Given the description of an element on the screen output the (x, y) to click on. 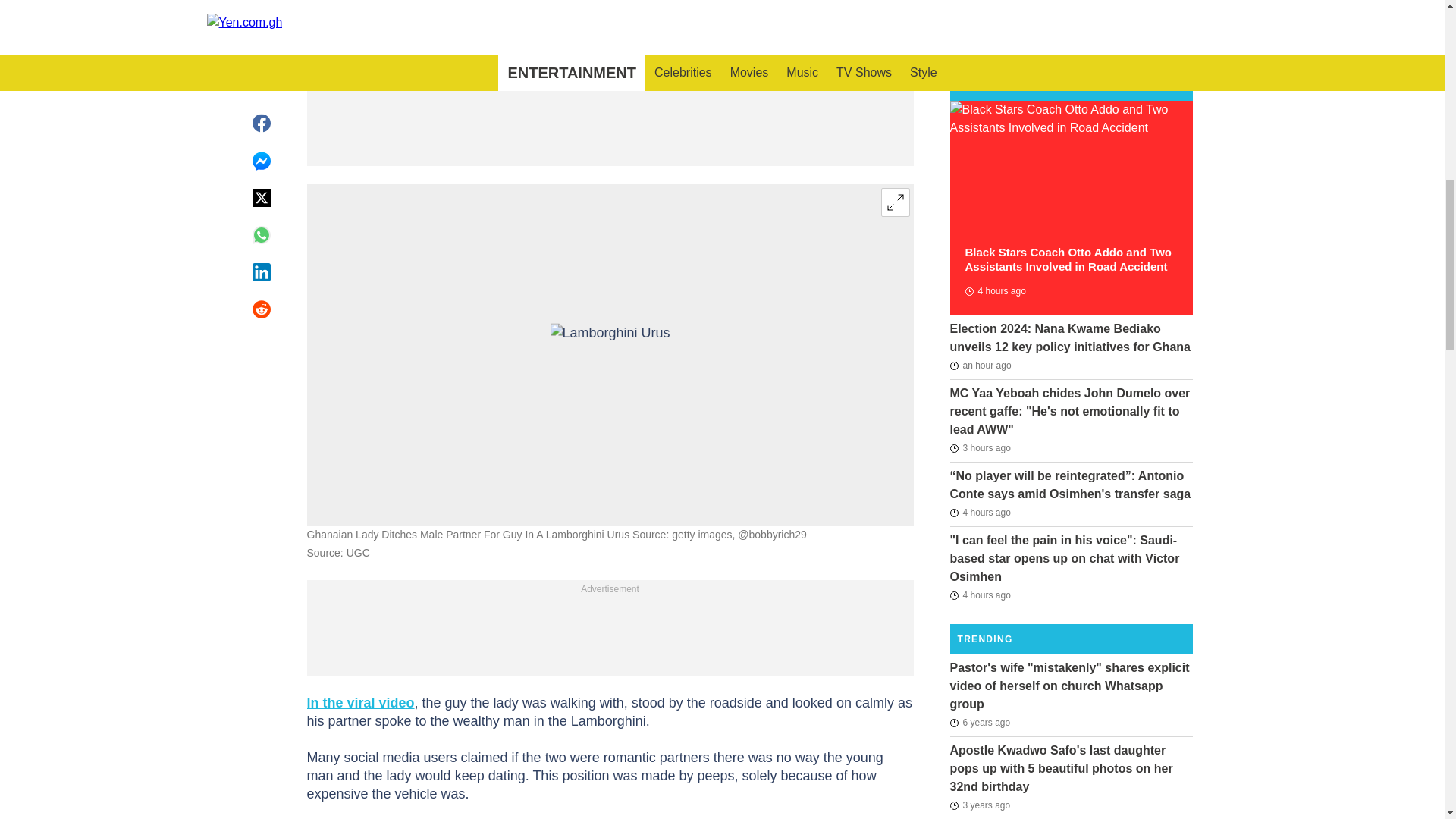
Lamborghini Urus (609, 353)
2021-06-13T09:05:37Z (979, 805)
2024-09-01T10:48:24Z (979, 512)
2018-01-27T14:51:48Z (979, 722)
2024-09-01T10:44:11Z (979, 595)
2024-09-01T10:27:49Z (994, 290)
Expand image (895, 202)
2024-09-01T11:02:26Z (979, 447)
2024-09-01T13:28:40Z (979, 365)
